Given the description of an element on the screen output the (x, y) to click on. 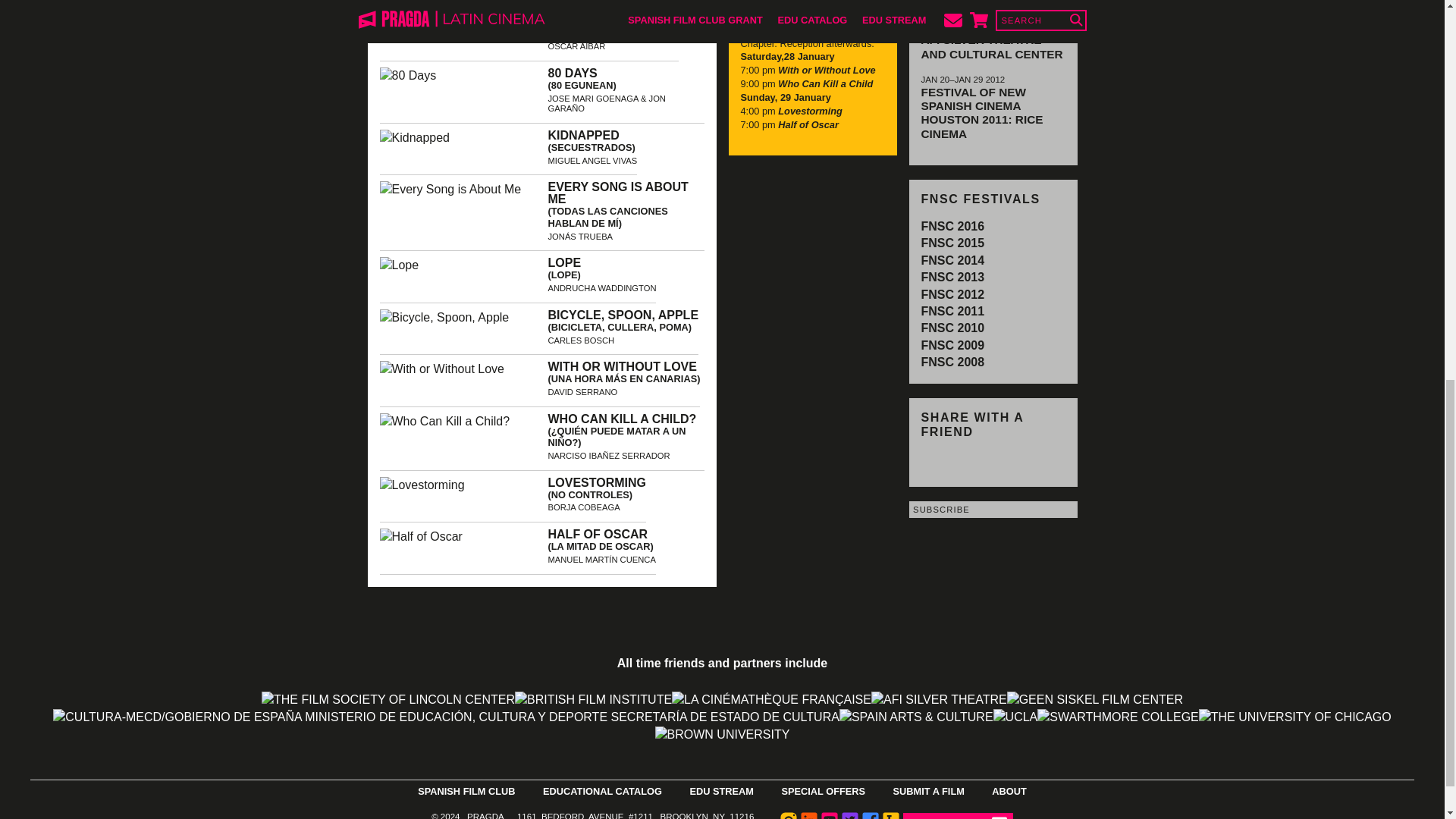
FNSC 2012 (952, 294)
FNSC 2008 (952, 361)
FNSC 2015 (952, 242)
FNSC 2011 (952, 310)
FNSC 2010 (952, 327)
FNSC 2016 (952, 226)
FNSC 2013 (952, 277)
FNSC 2014 (952, 259)
FNSC 2009 (952, 345)
